Given the description of an element on the screen output the (x, y) to click on. 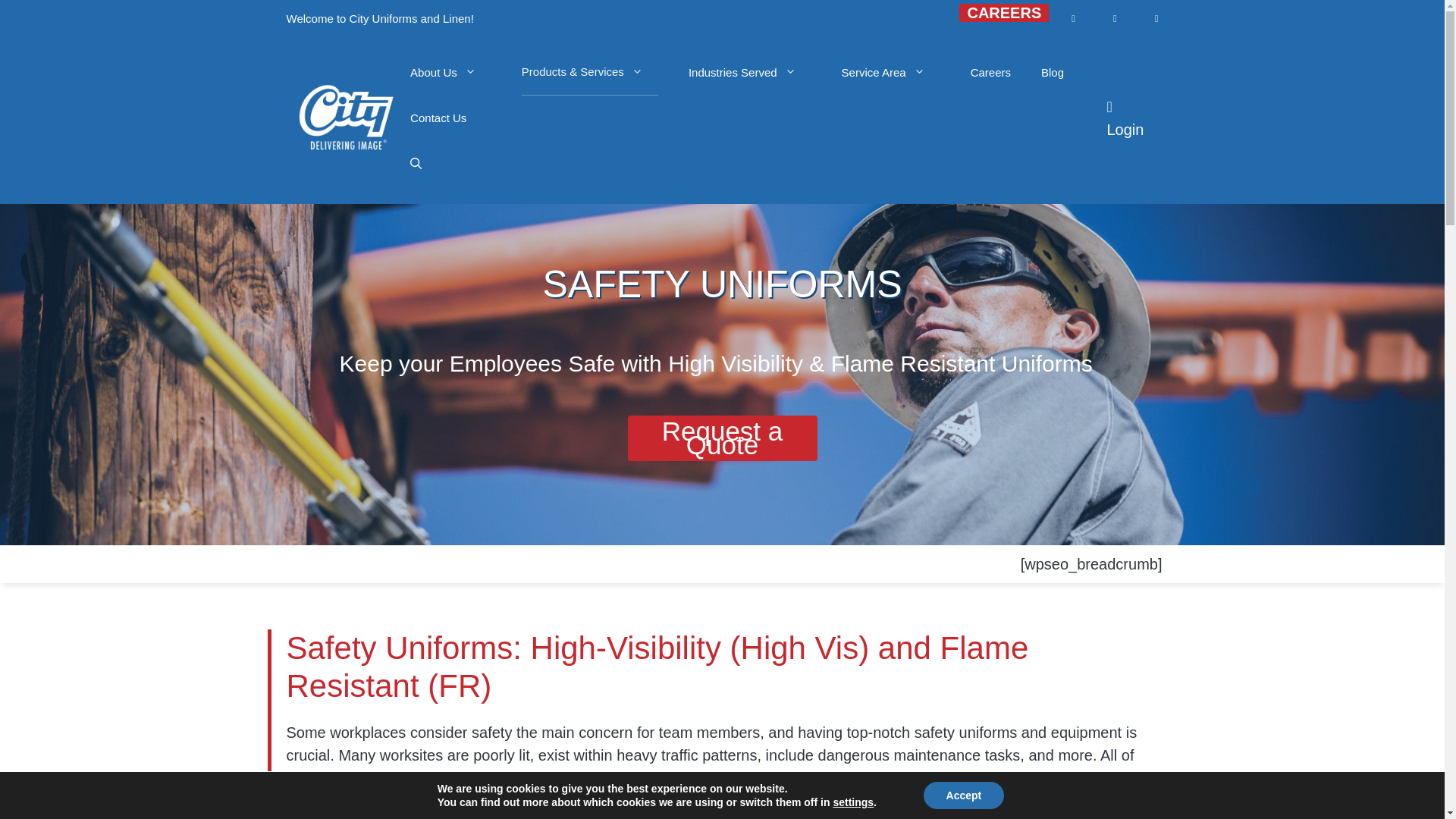
Welcome to City Uniforms and Linen! (379, 19)
CAREERS (1003, 13)
Service Area (890, 72)
About Us (451, 72)
Industries Served (749, 72)
